Given the description of an element on the screen output the (x, y) to click on. 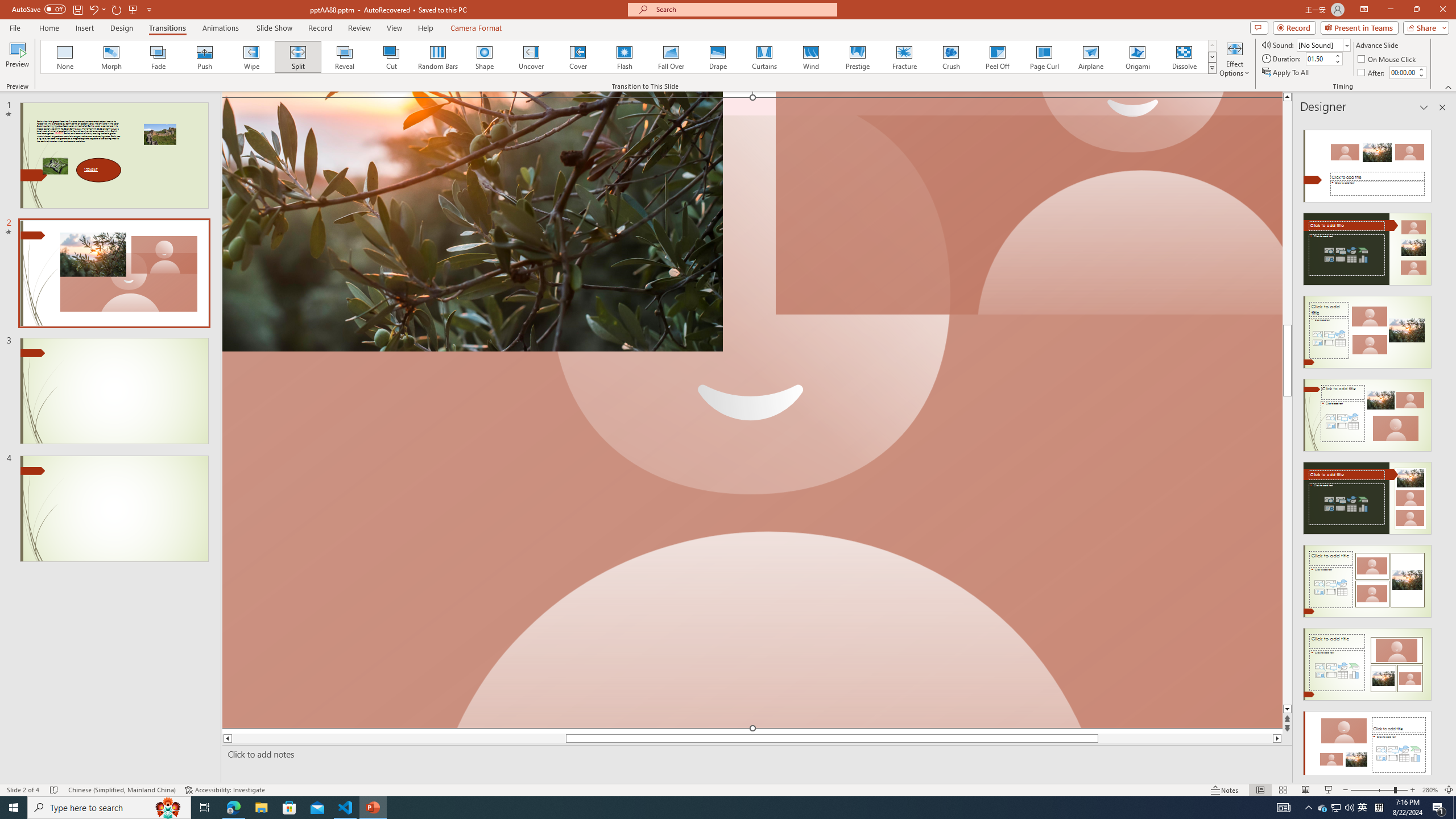
Random Bars (437, 56)
Reveal (344, 56)
After (1403, 72)
